Given the description of an element on the screen output the (x, y) to click on. 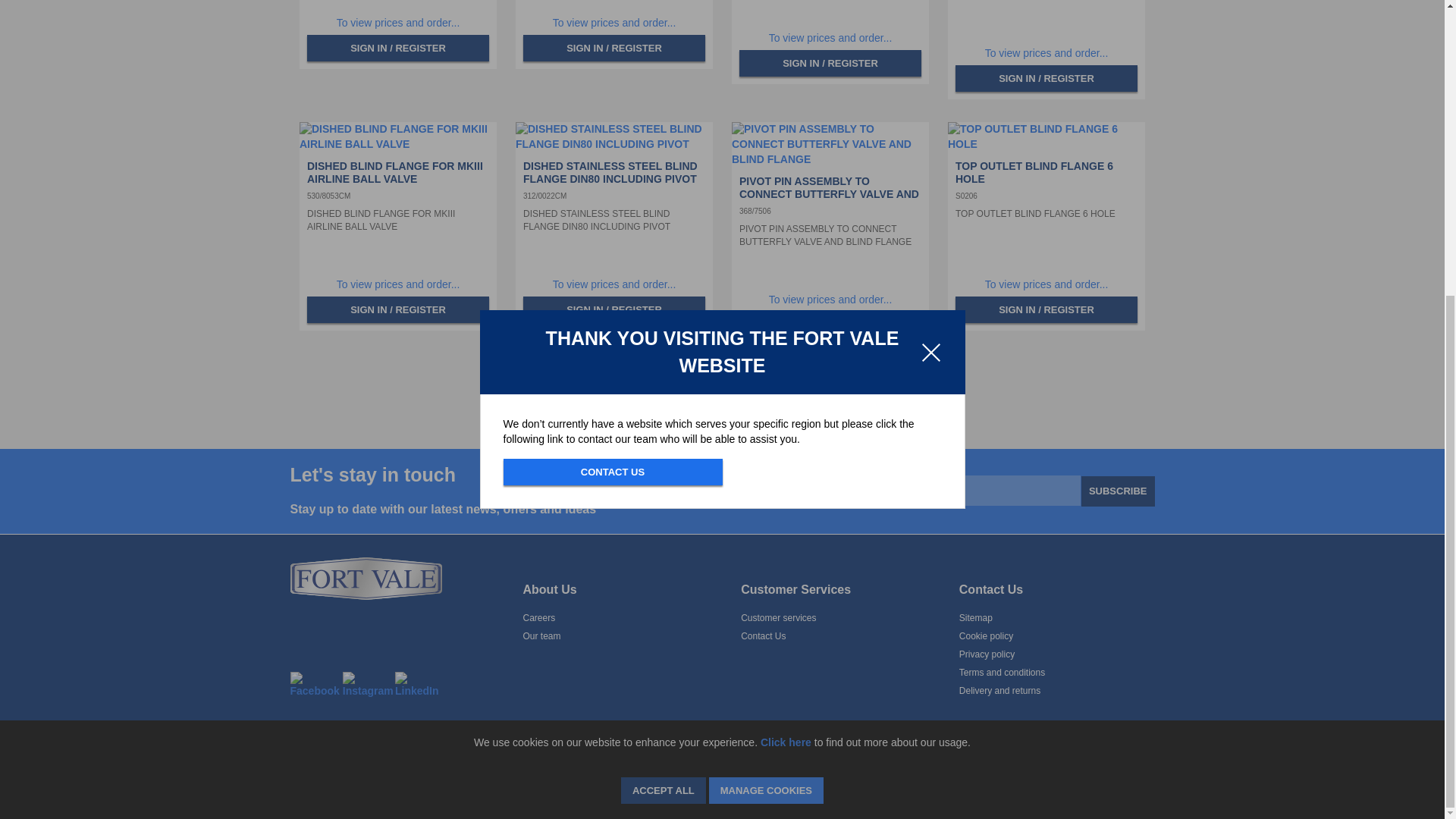
MANAGE COOKIES (766, 335)
Click here (785, 287)
ACCEPT ALL (663, 335)
CONTACT US (612, 17)
